Given the description of an element on the screen output the (x, y) to click on. 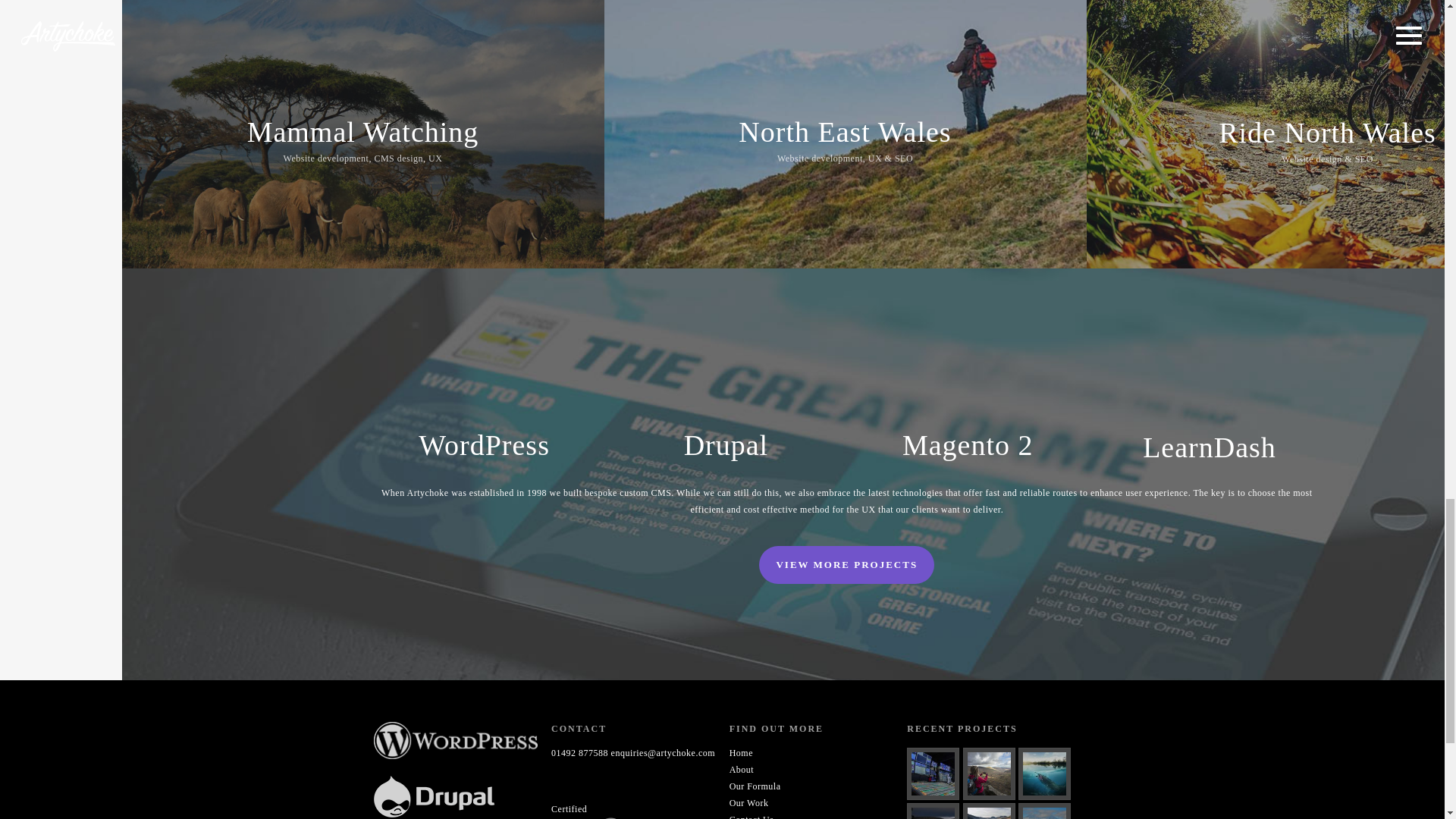
Our Formula (754, 786)
Our Formula (754, 786)
About (741, 769)
Contact Us (751, 816)
Contact Us (751, 816)
VIEW MORE PROJECTS (846, 564)
Send email (663, 752)
About (741, 769)
Home (740, 752)
Our Work (748, 802)
Home (740, 752)
Our Work (748, 802)
